Given the description of an element on the screen output the (x, y) to click on. 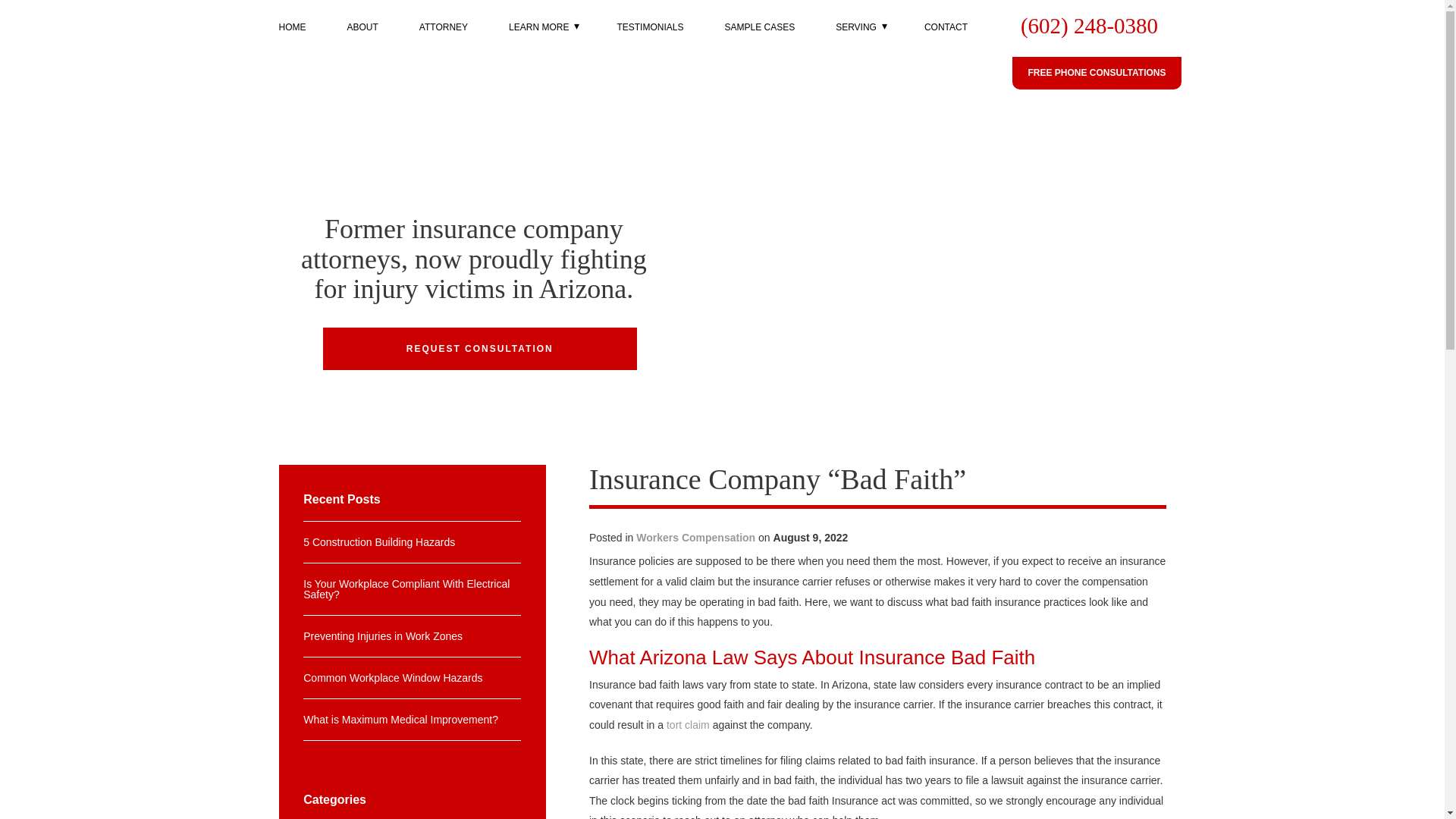
Preventing Injuries in Work Zones (411, 635)
LEARN MORE (538, 38)
Is Your Workplace Compliant With Electrical Safety? (411, 589)
ATTORNEY (443, 38)
CONTACT (946, 38)
ABOUT (362, 38)
SAMPLE CASES (758, 38)
TESTIMONIALS (648, 38)
What is Maximum Medical Improvement? (411, 719)
SERVING (855, 38)
